Given the description of an element on the screen output the (x, y) to click on. 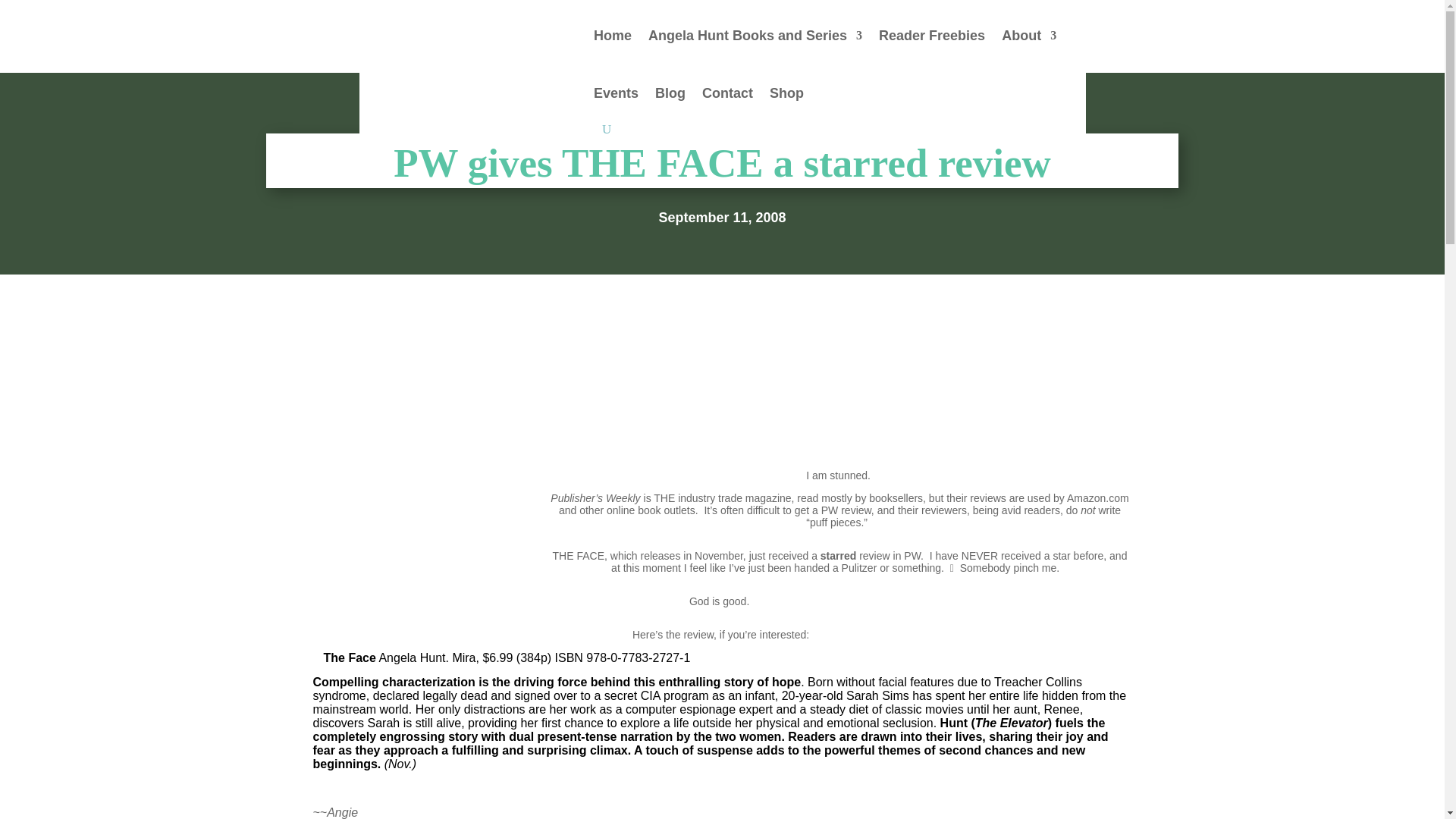
About (1029, 35)
Layer 1 (721, 313)
Reader Freebies (932, 35)
Angela Hunt Books and Series (754, 35)
